Given the description of an element on the screen output the (x, y) to click on. 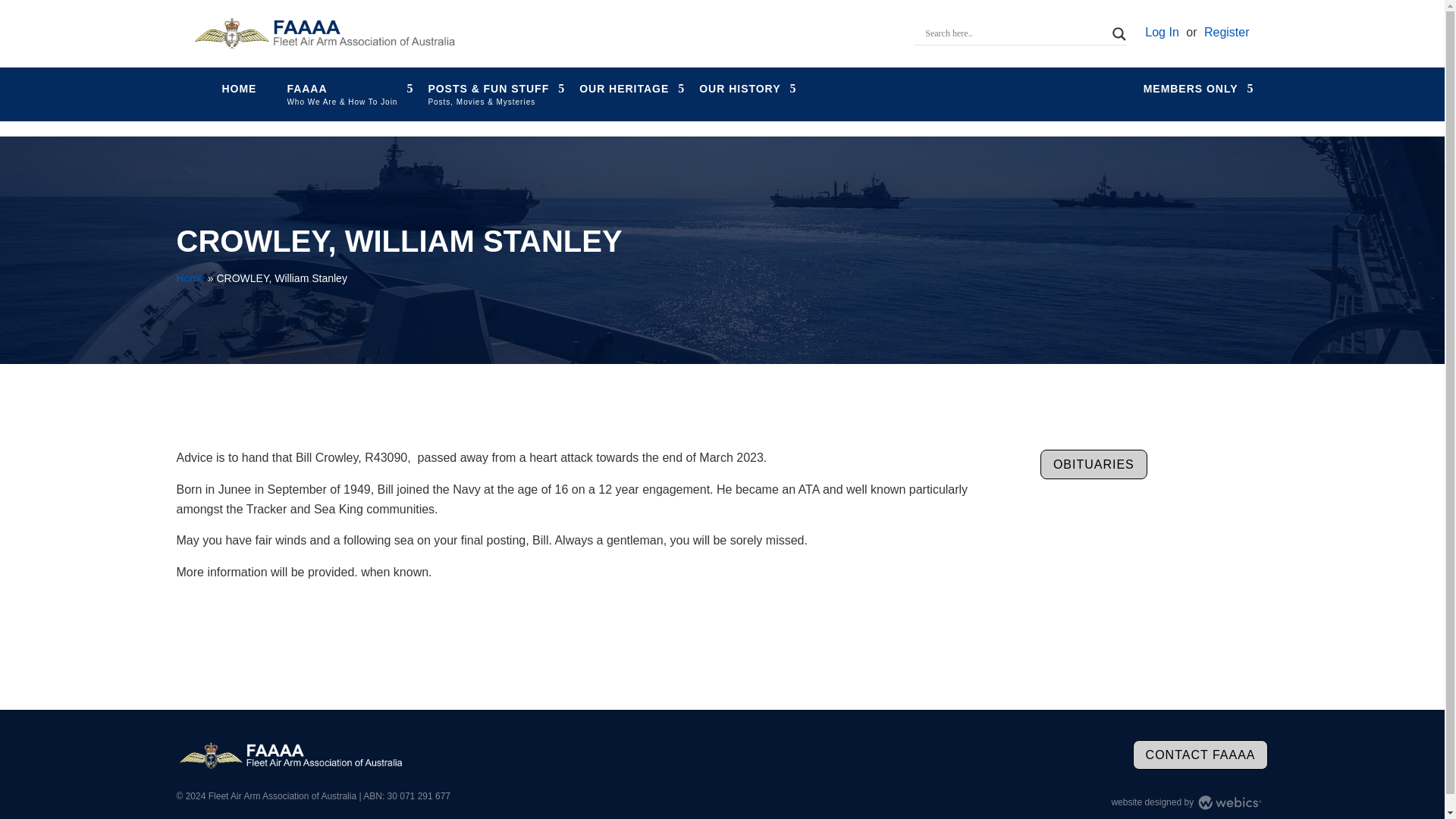
Log In (1160, 31)
faaaa-logo-footer (289, 756)
Register (1226, 31)
HOME (238, 88)
OUR HERITAGE (623, 88)
